Given the description of an element on the screen output the (x, y) to click on. 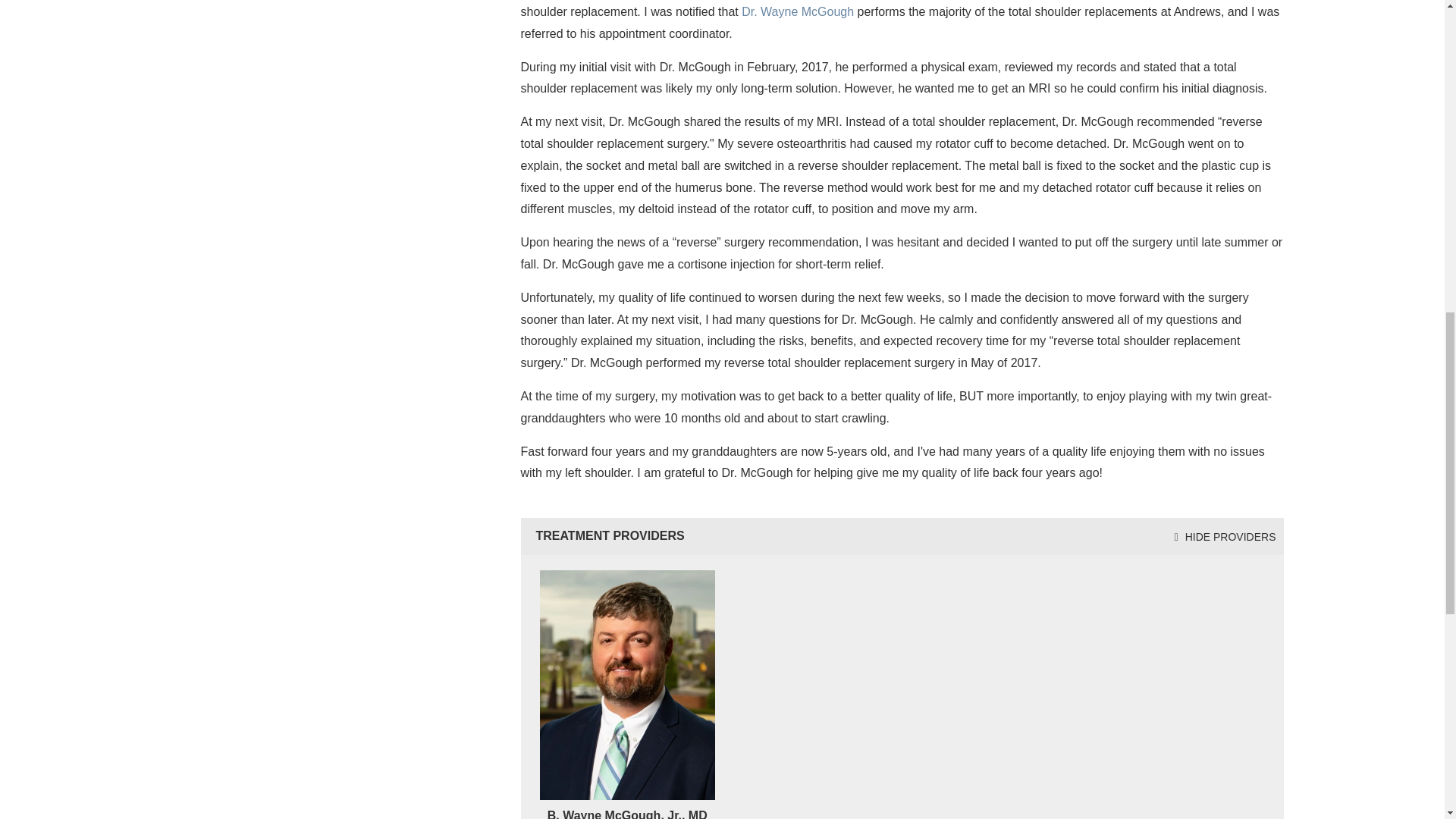
Dr. Wayne McGough (797, 11)
